Given the description of an element on the screen output the (x, y) to click on. 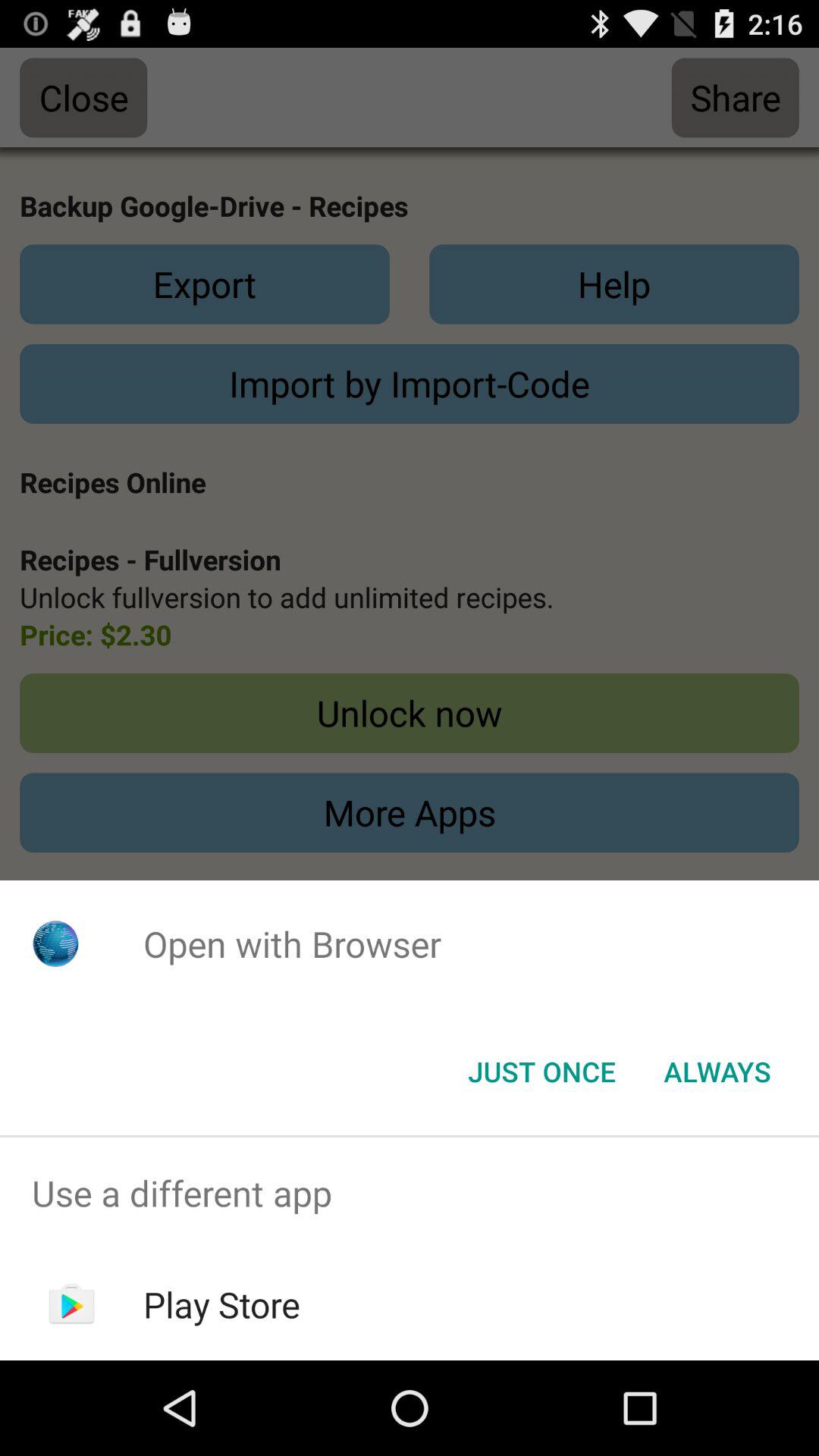
click just once (541, 1071)
